Given the description of an element on the screen output the (x, y) to click on. 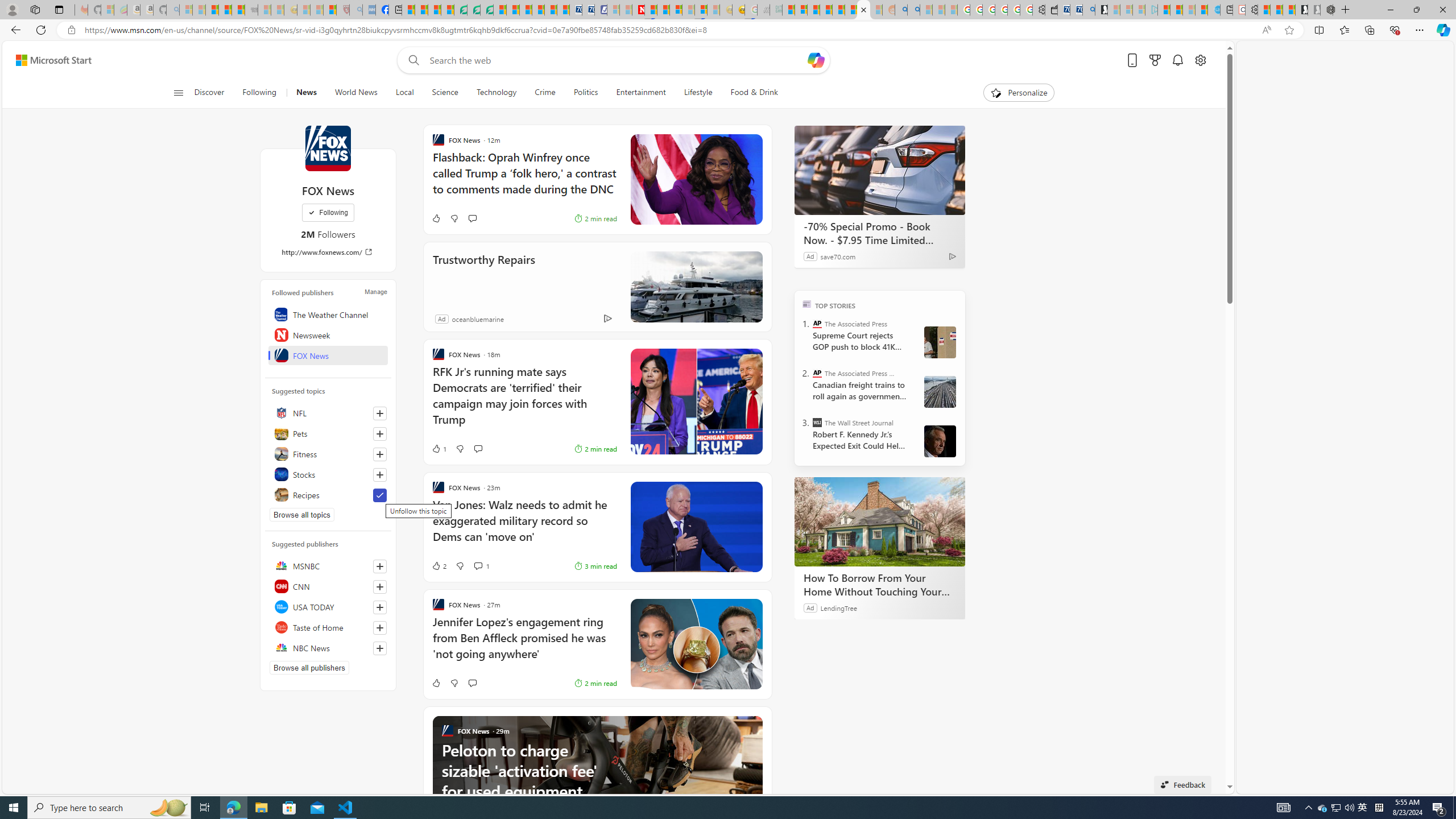
Terms of Use Agreement (473, 9)
http://www.foxnews.com/ (327, 251)
Taste of Home (327, 627)
